Given the description of an element on the screen output the (x, y) to click on. 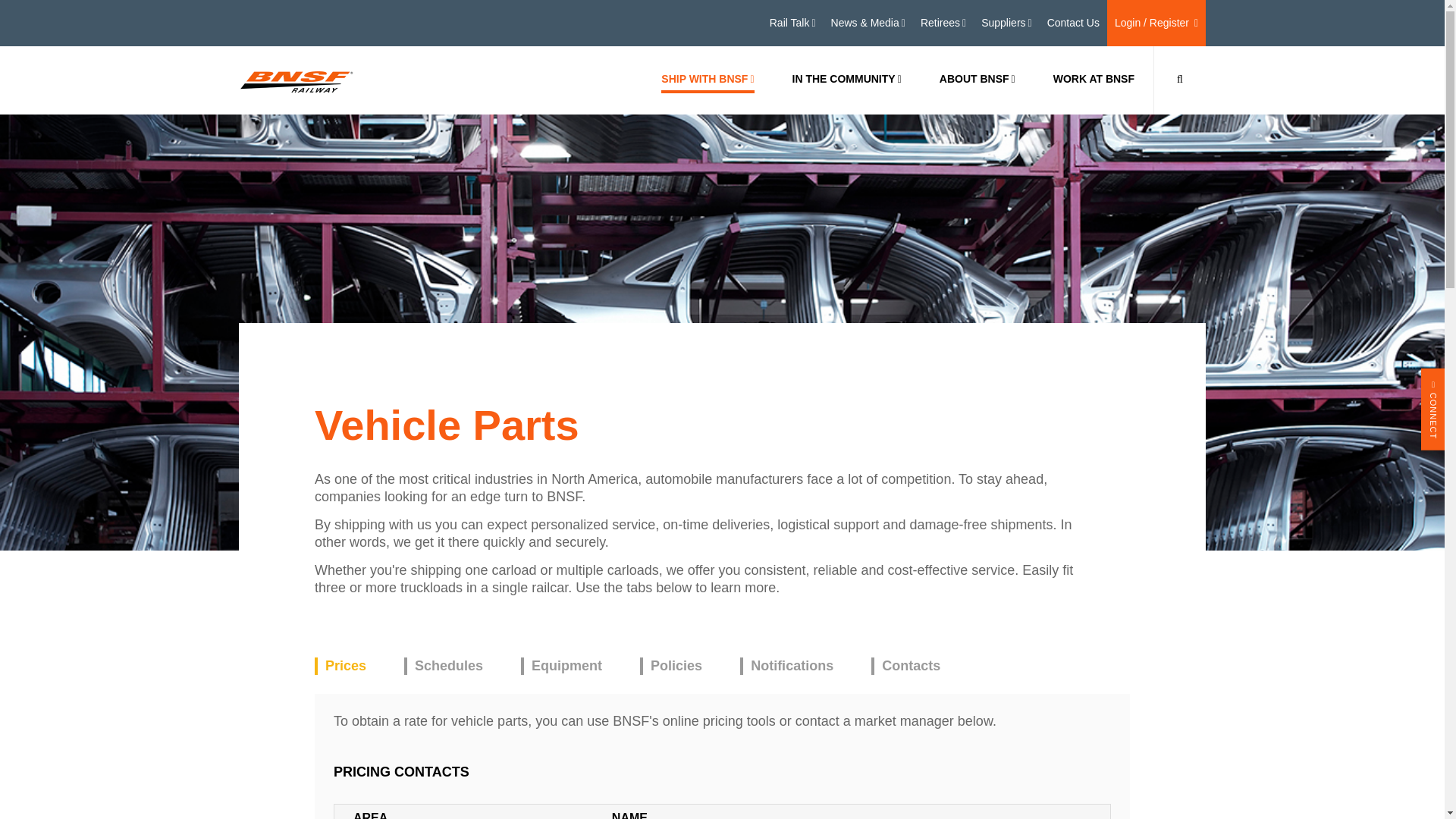
Rail Talk (792, 23)
Suppliers (1006, 23)
Retirees (943, 23)
